Given the description of an element on the screen output the (x, y) to click on. 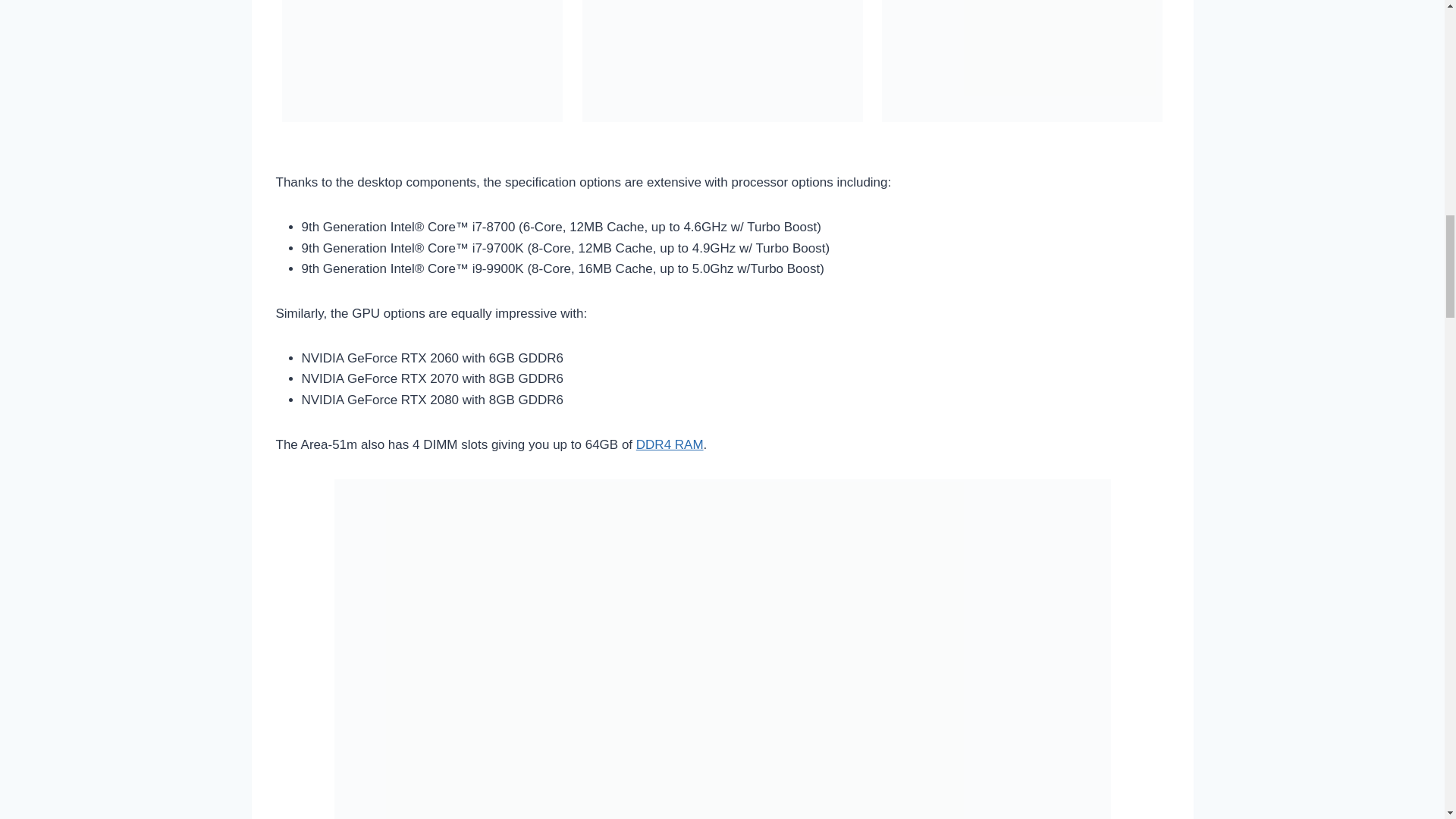
Alienware 17 Area 51m 4 (722, 61)
Alienware 17 Area 51m 6 (422, 61)
Alienware 17 Area 51m 3 (1021, 61)
DDR4 RAM (669, 444)
